Given the description of an element on the screen output the (x, y) to click on. 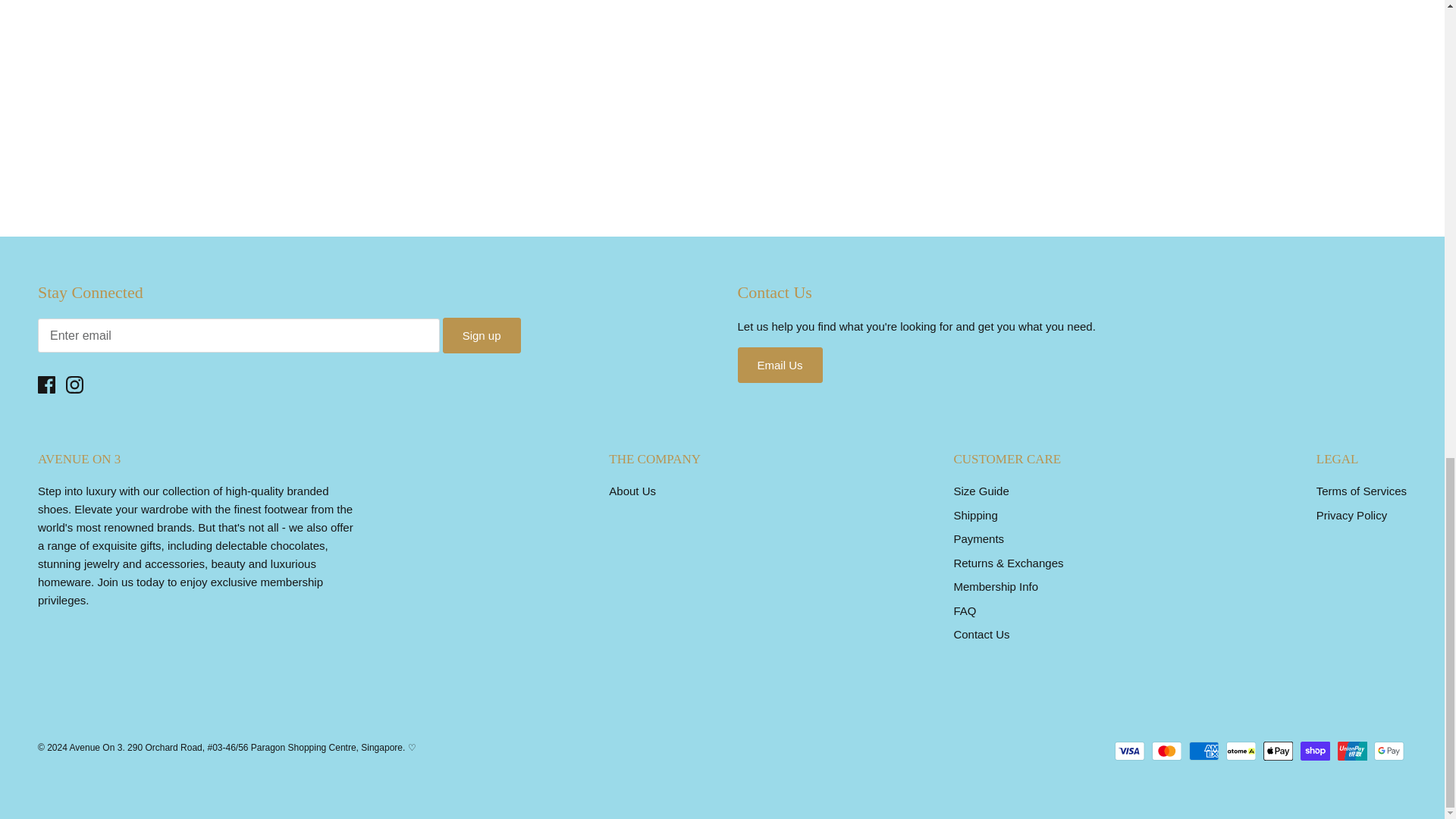
Shop Pay (1315, 751)
Mastercard (1166, 751)
Atome (1240, 751)
Apple Pay (1277, 751)
Membership (130, 581)
Google Pay (1388, 751)
Union Pay (1352, 751)
Visa (1129, 751)
Facebook (46, 384)
American Express (1203, 751)
